Given the description of an element on the screen output the (x, y) to click on. 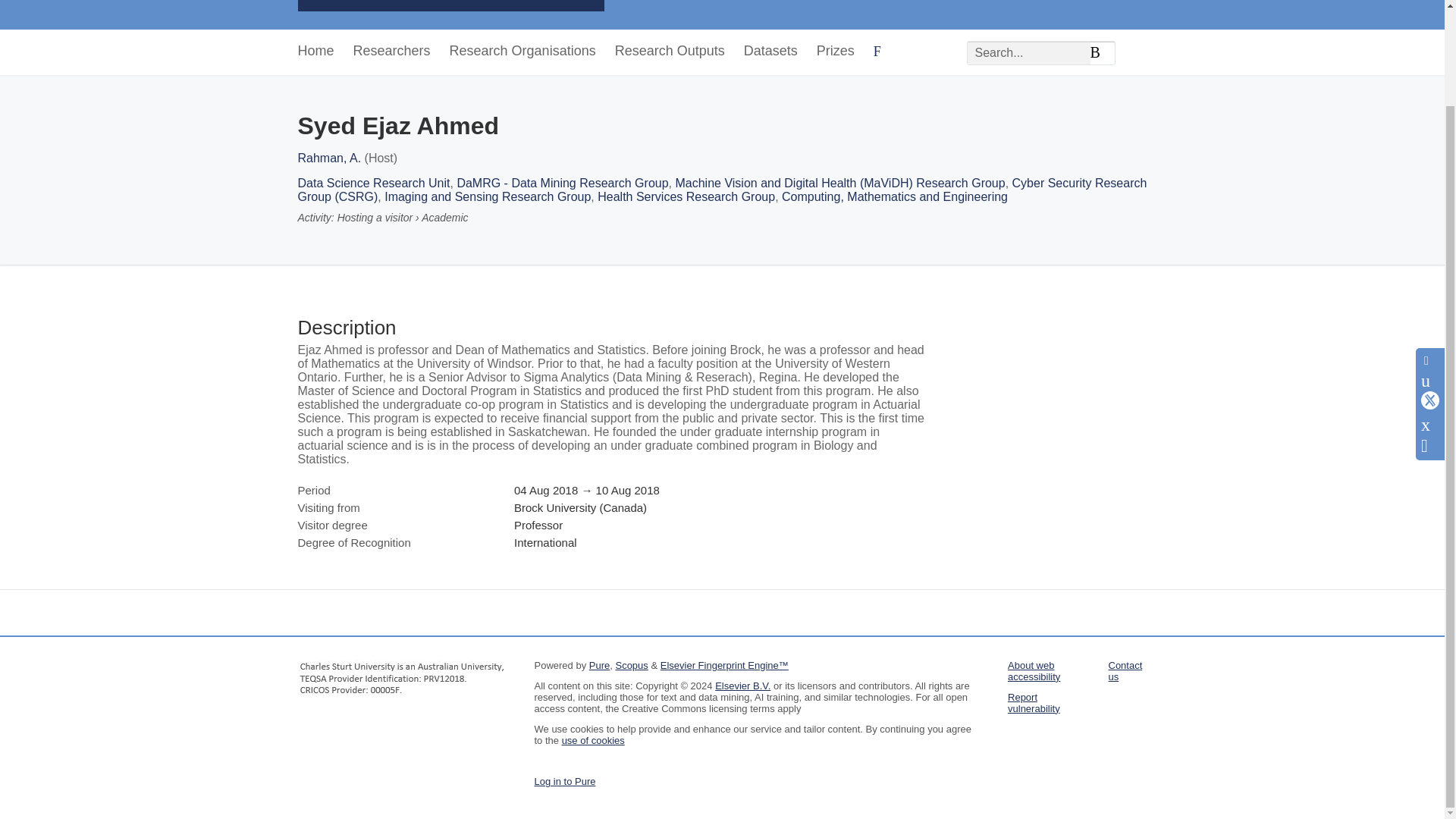
Research Outputs (669, 51)
Scopus (630, 665)
About web accessibility (1033, 671)
Prizes (835, 51)
Home (315, 51)
X (1430, 289)
Data Science Research Unit (373, 182)
Log in to Pure (564, 781)
Pure (599, 665)
Charles Sturt University Research Output Home (450, 7)
Researchers (391, 51)
use of cookies (593, 740)
Contact us (1125, 671)
X (1430, 291)
Computing, Mathematics and Engineering (894, 196)
